Given the description of an element on the screen output the (x, y) to click on. 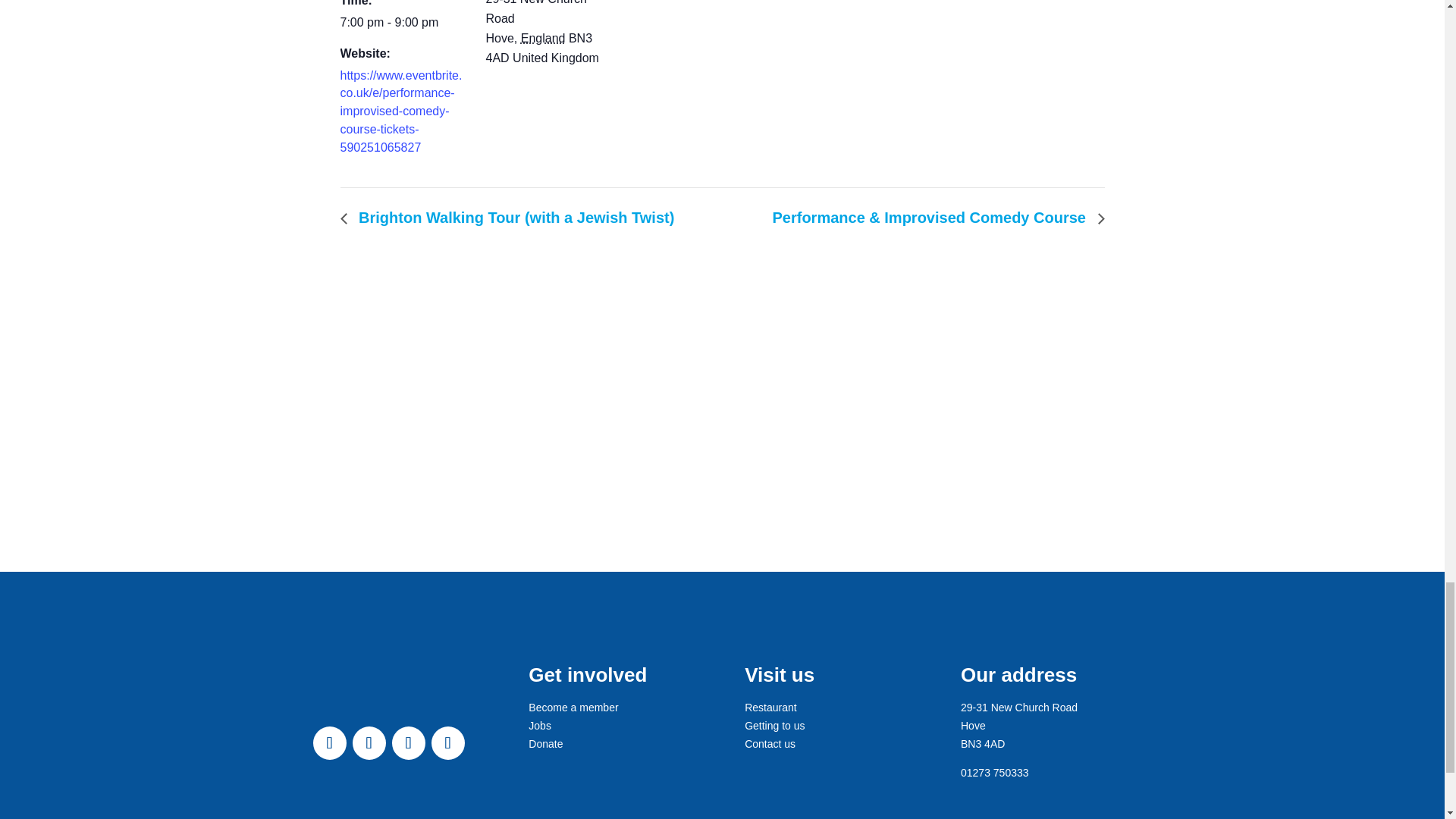
Follow on Facebook (329, 743)
single-wave-white (397, 813)
Follow on X (368, 743)
2023-04-24 (403, 22)
Follow on LinkedIn (447, 743)
Follow on Instagram (408, 743)
bnjc-logo-white (348, 699)
England (543, 38)
